Given the description of an element on the screen output the (x, y) to click on. 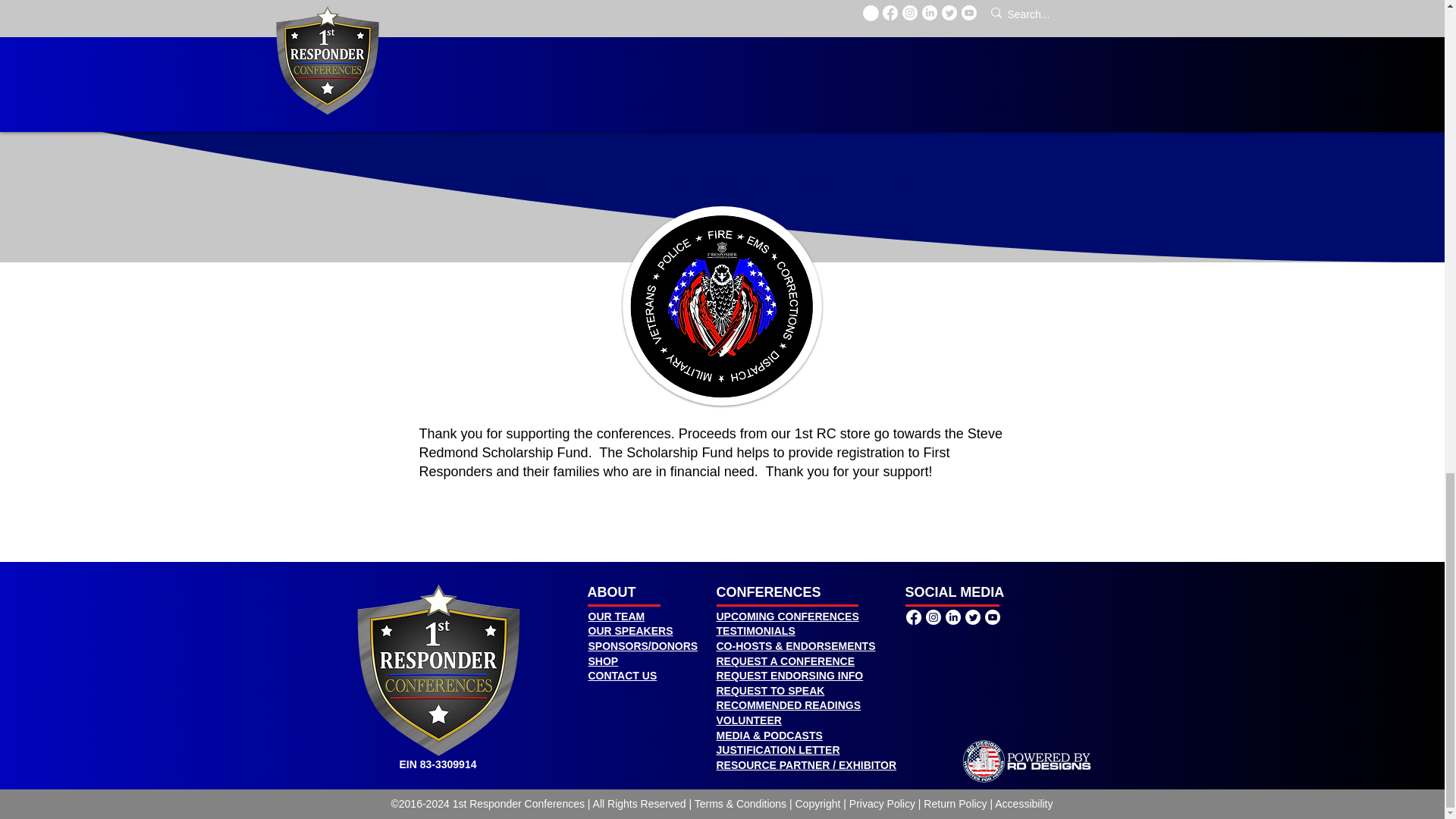
1st Responder Conferences - Logo (437, 669)
